Given the description of an element on the screen output the (x, y) to click on. 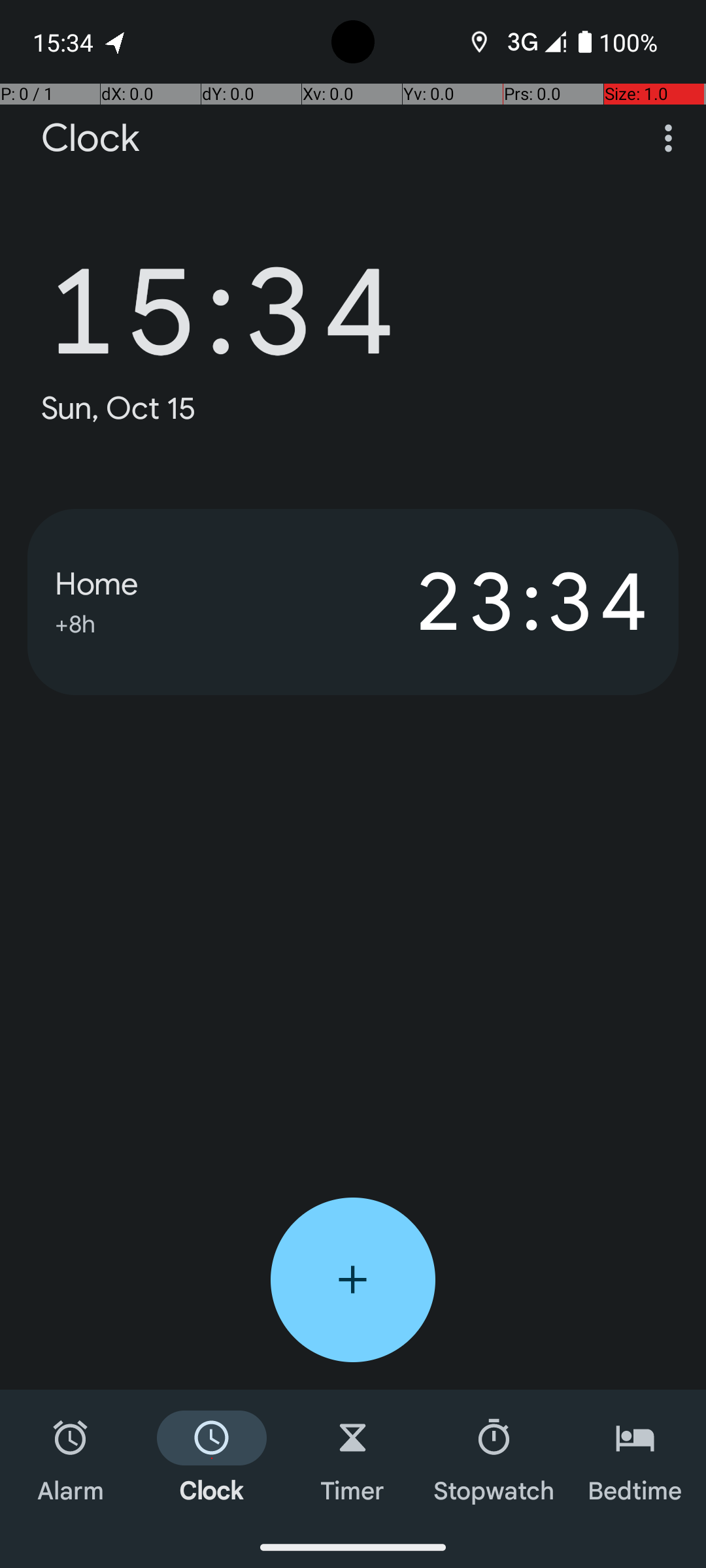
Add city Element type: android.widget.Button (352, 1279)
Sun, Oct 15 Element type: android.widget.TextView (118, 407)
+8h Element type: android.widget.TextView (74, 621)
23:34 Element type: android.widget.TextView (502, 601)
OpenTracks notification: Distance: 0.00 ft Element type: android.widget.ImageView (115, 41)
